Given the description of an element on the screen output the (x, y) to click on. 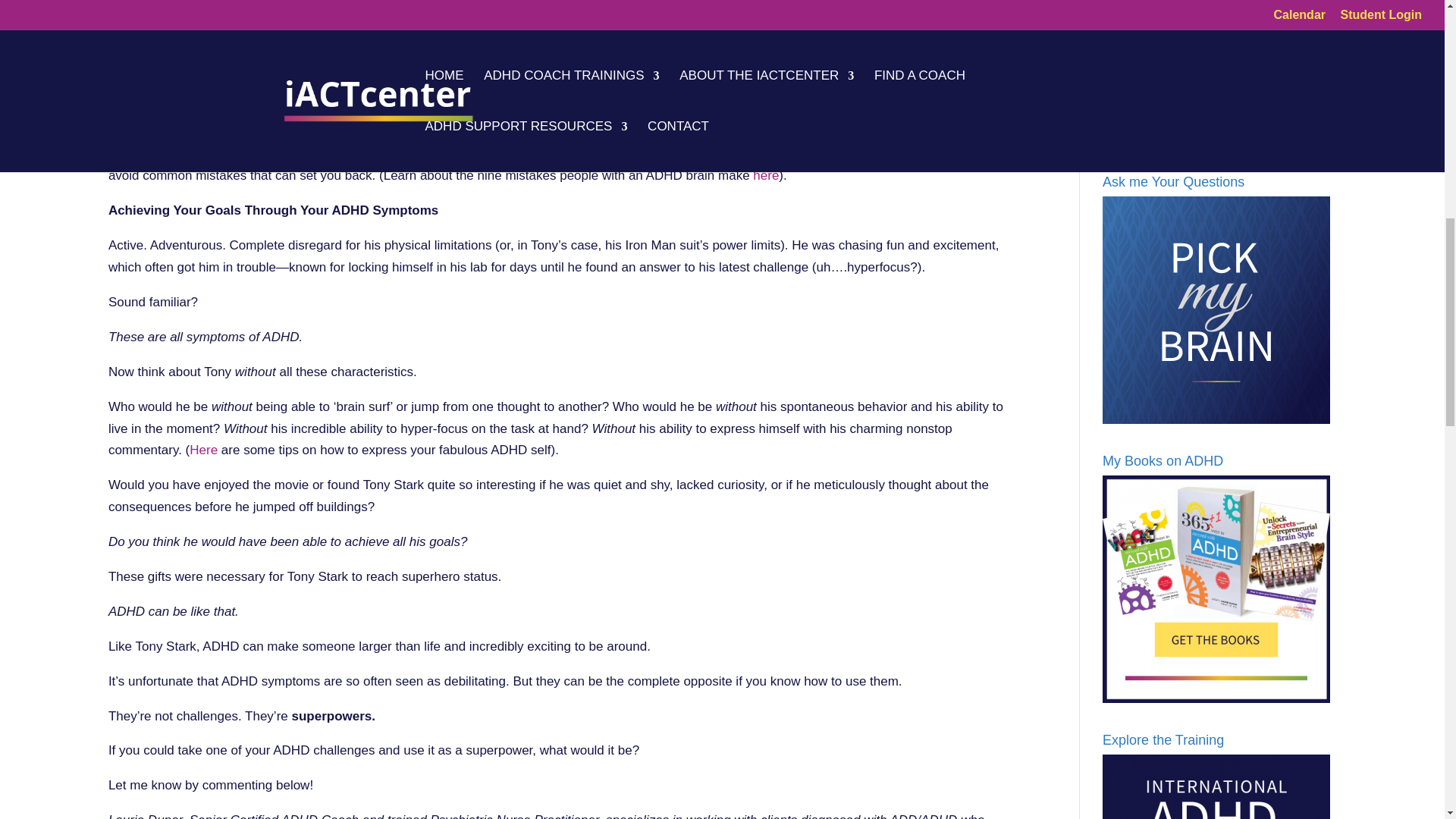
Explore the Training (1216, 786)
My Books on ADHD (1216, 588)
Ask me Your Questions (1216, 310)
Get Your Poster (1219, 72)
